Given the description of an element on the screen output the (x, y) to click on. 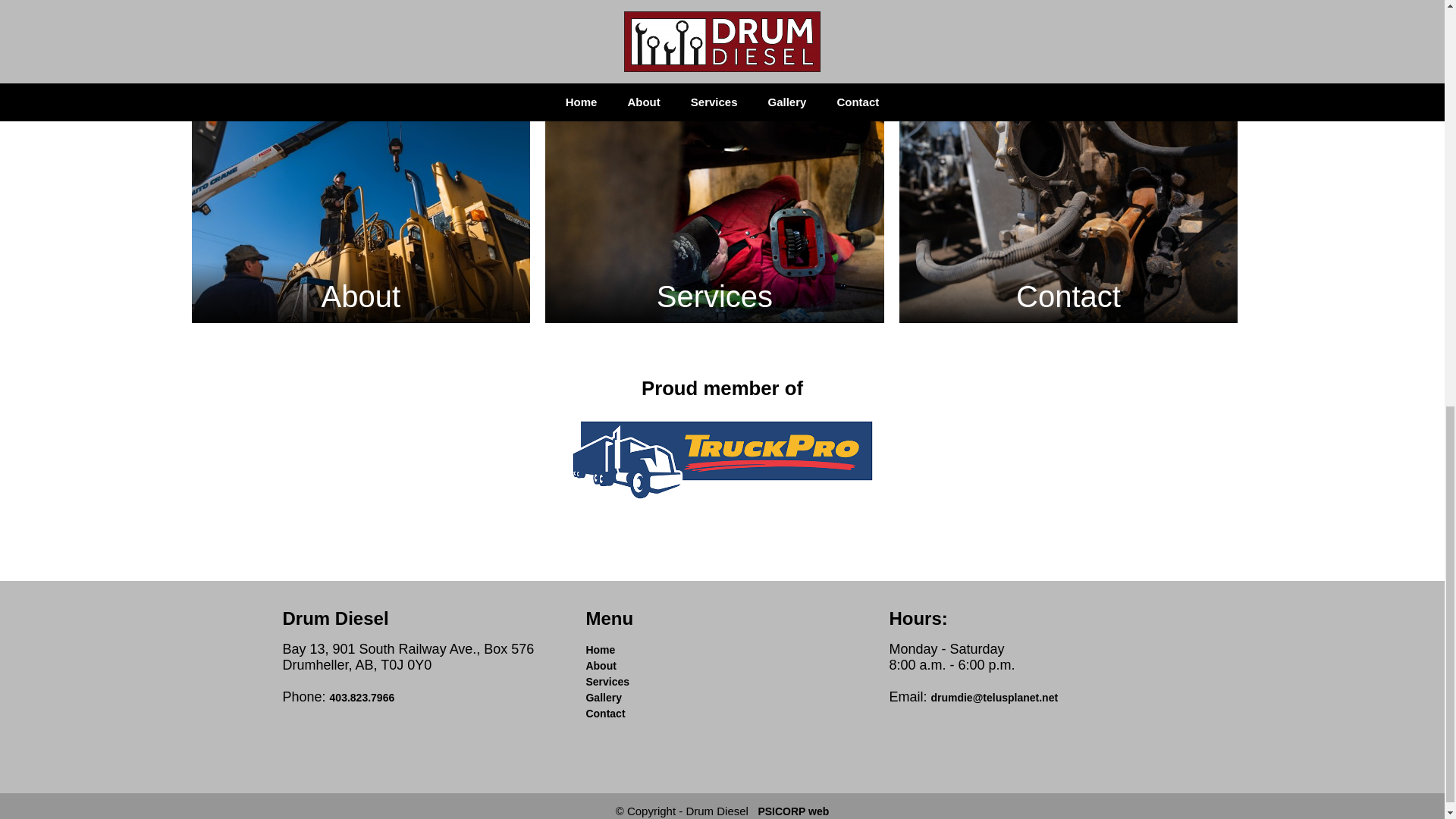
PSICORP web (792, 811)
Home (599, 649)
Gallery (603, 697)
Contact (1069, 208)
About (359, 208)
Services (606, 681)
403.823.7966 (362, 697)
About (600, 665)
Contact (604, 713)
Services (713, 208)
